Given the description of an element on the screen output the (x, y) to click on. 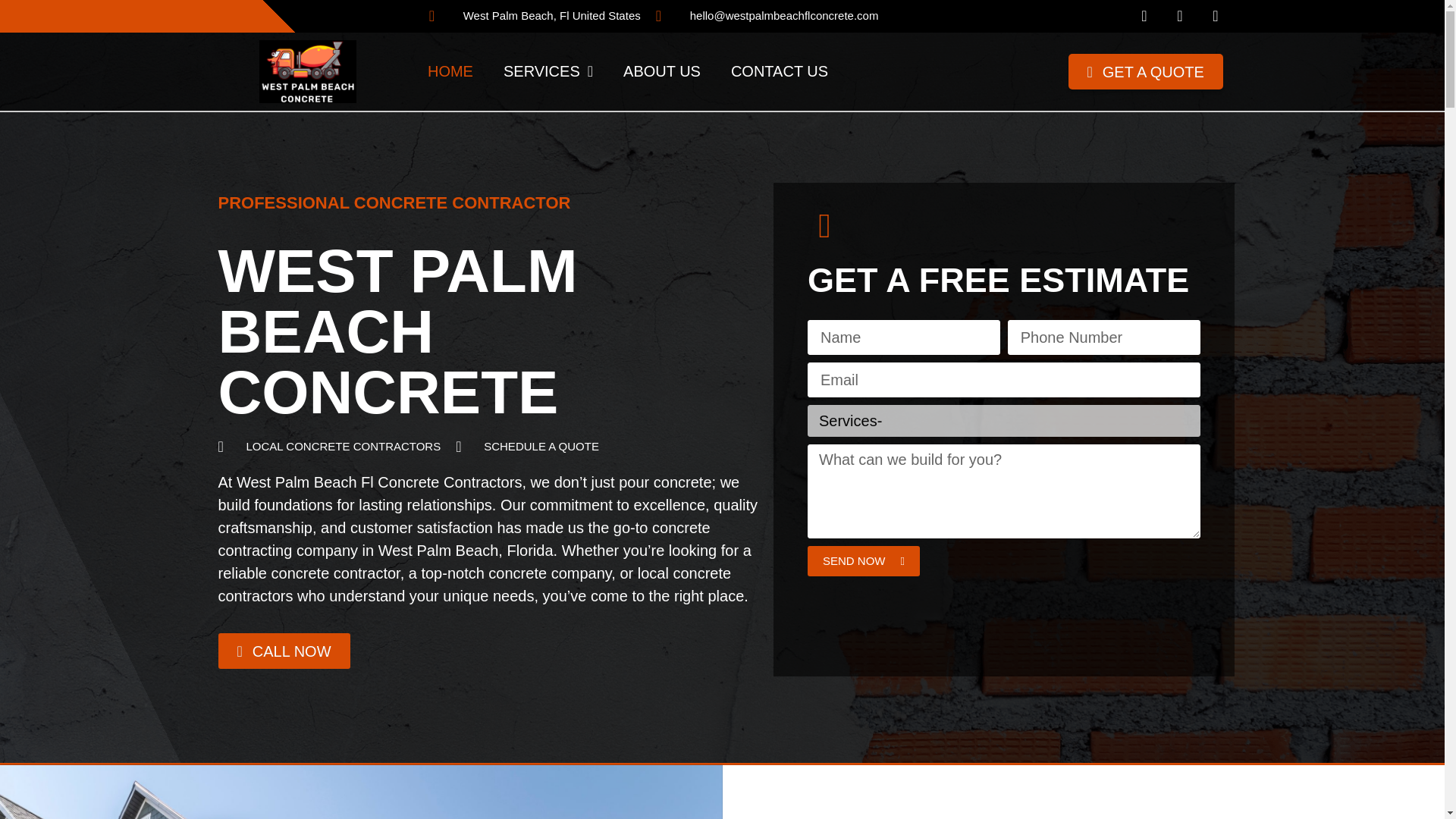
SEND NOW (864, 561)
GET A QUOTE (1145, 71)
CONTACT US (779, 71)
SERVICES (547, 71)
HOME (449, 71)
CALL NOW (284, 651)
ABOUT US (662, 71)
